Given the description of an element on the screen output the (x, y) to click on. 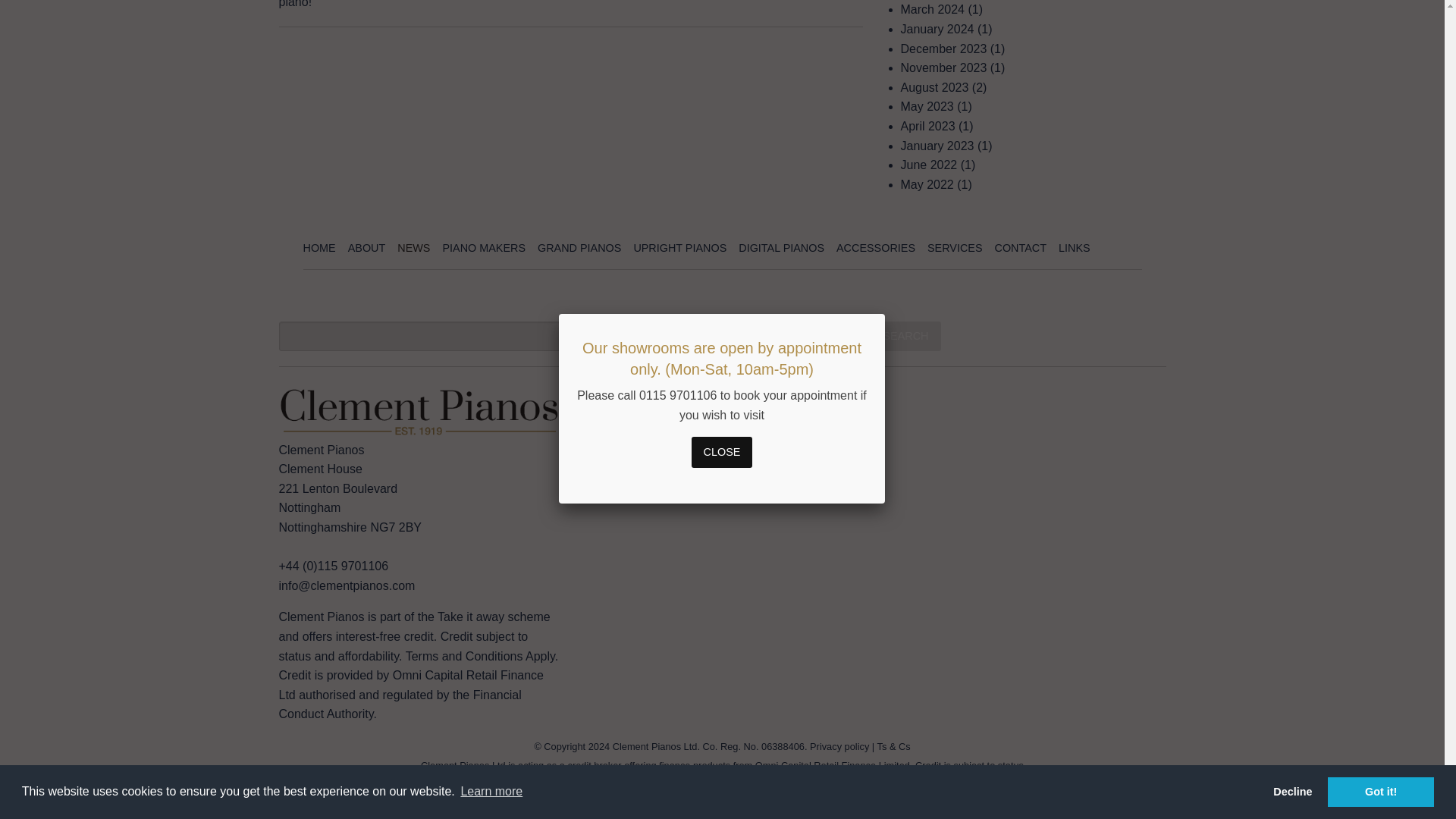
Piano Makers (483, 247)
December 2023 (944, 48)
June 2022 (929, 164)
About Clement Pianos (366, 247)
News (413, 247)
November 2023 (944, 67)
Upright Pianos (679, 247)
April 2023 (928, 125)
Decline (1292, 222)
May 2023 (927, 106)
May 2022 (927, 184)
Got it! (1380, 222)
Learn more (491, 221)
August 2023 (935, 87)
January 2024 (937, 29)
